Given the description of an element on the screen output the (x, y) to click on. 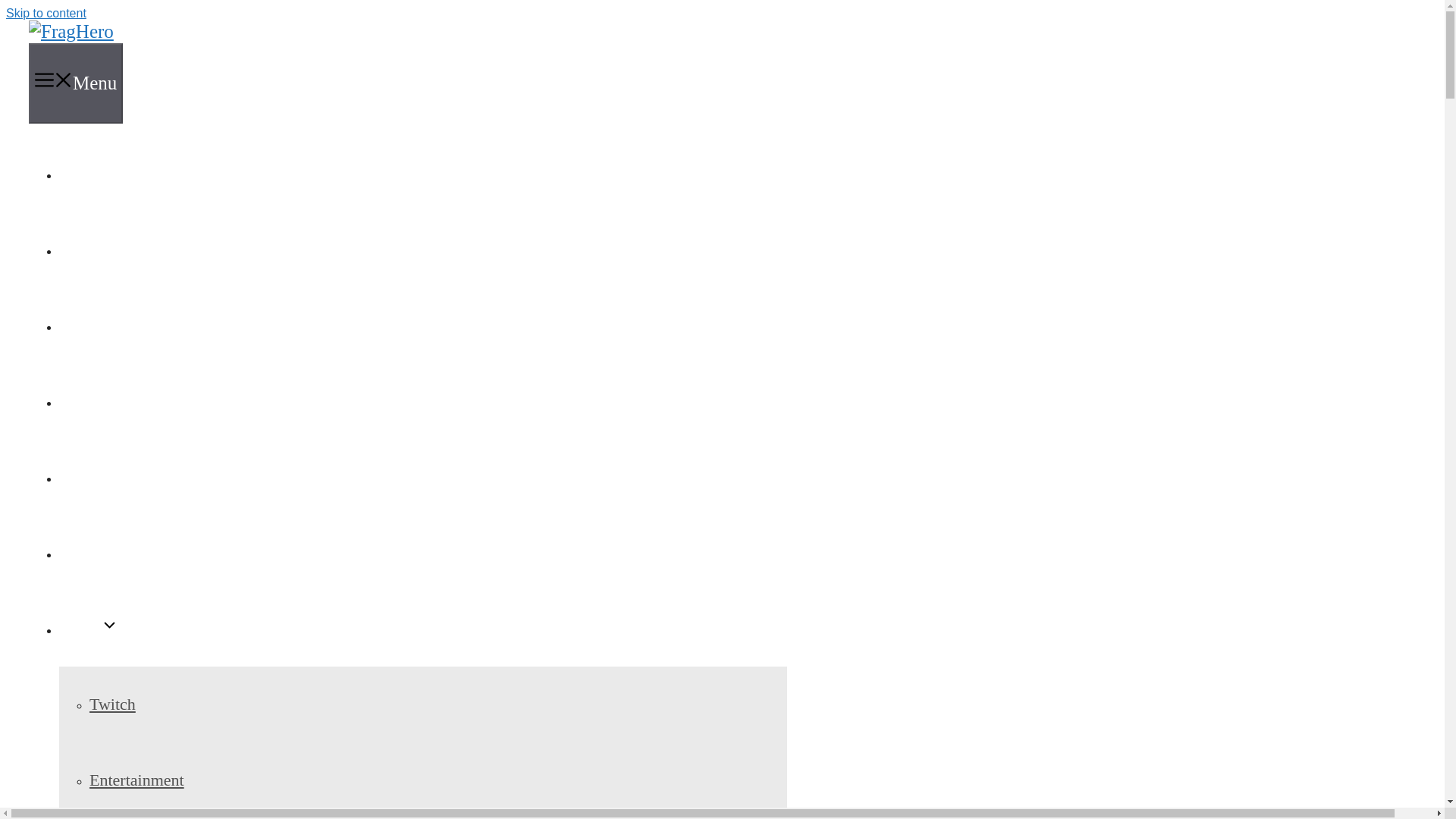
Reviews (91, 476)
Twitch (111, 703)
Hardware Reviews (131, 552)
Skip to content (45, 12)
Features (91, 324)
Guides (86, 249)
More (89, 628)
Skip to content (45, 12)
Entertainment (136, 779)
Menu (75, 83)
